Given the description of an element on the screen output the (x, y) to click on. 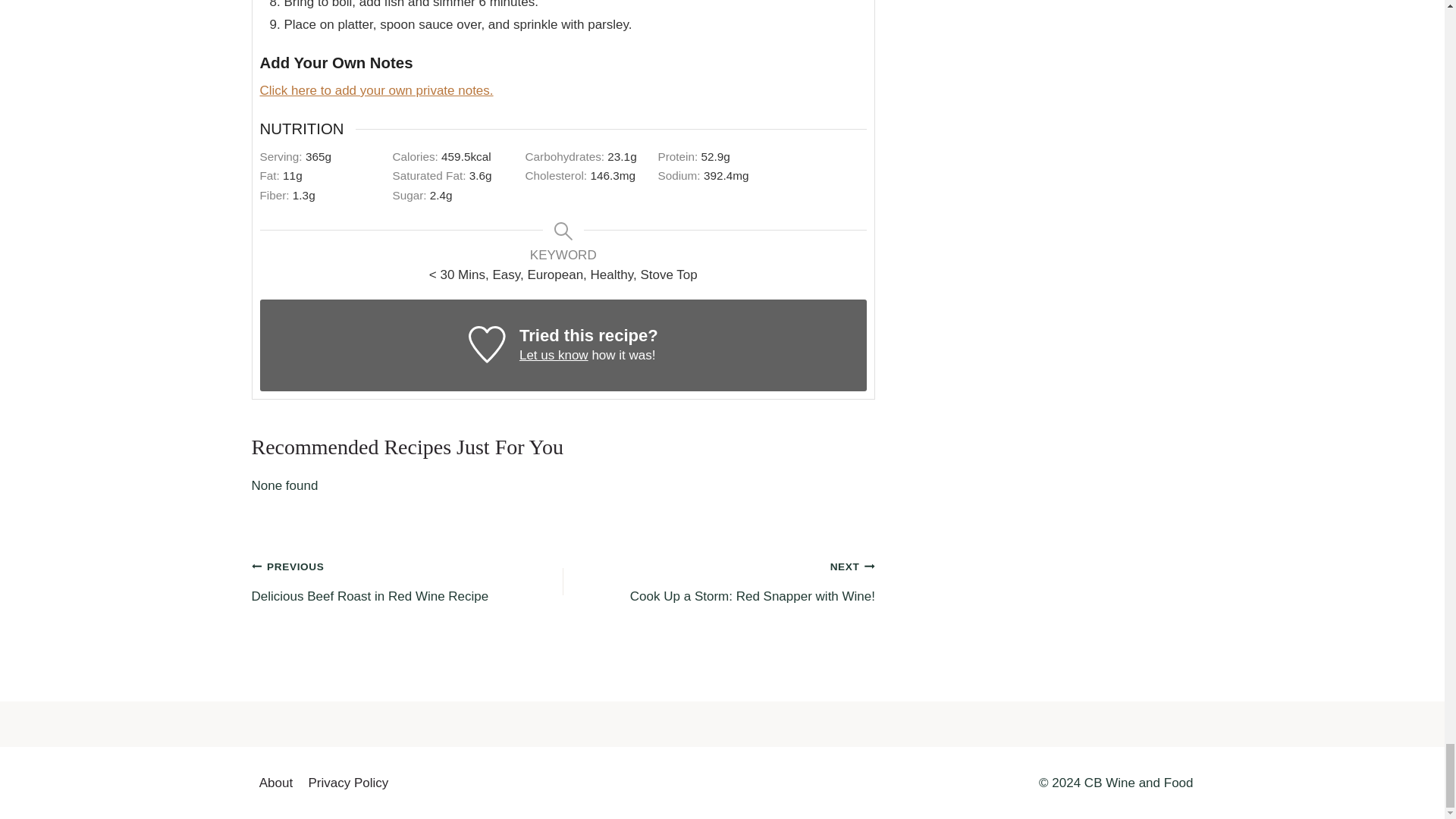
Let us know (407, 581)
Click here to add your own private notes. (719, 581)
